Given the description of an element on the screen output the (x, y) to click on. 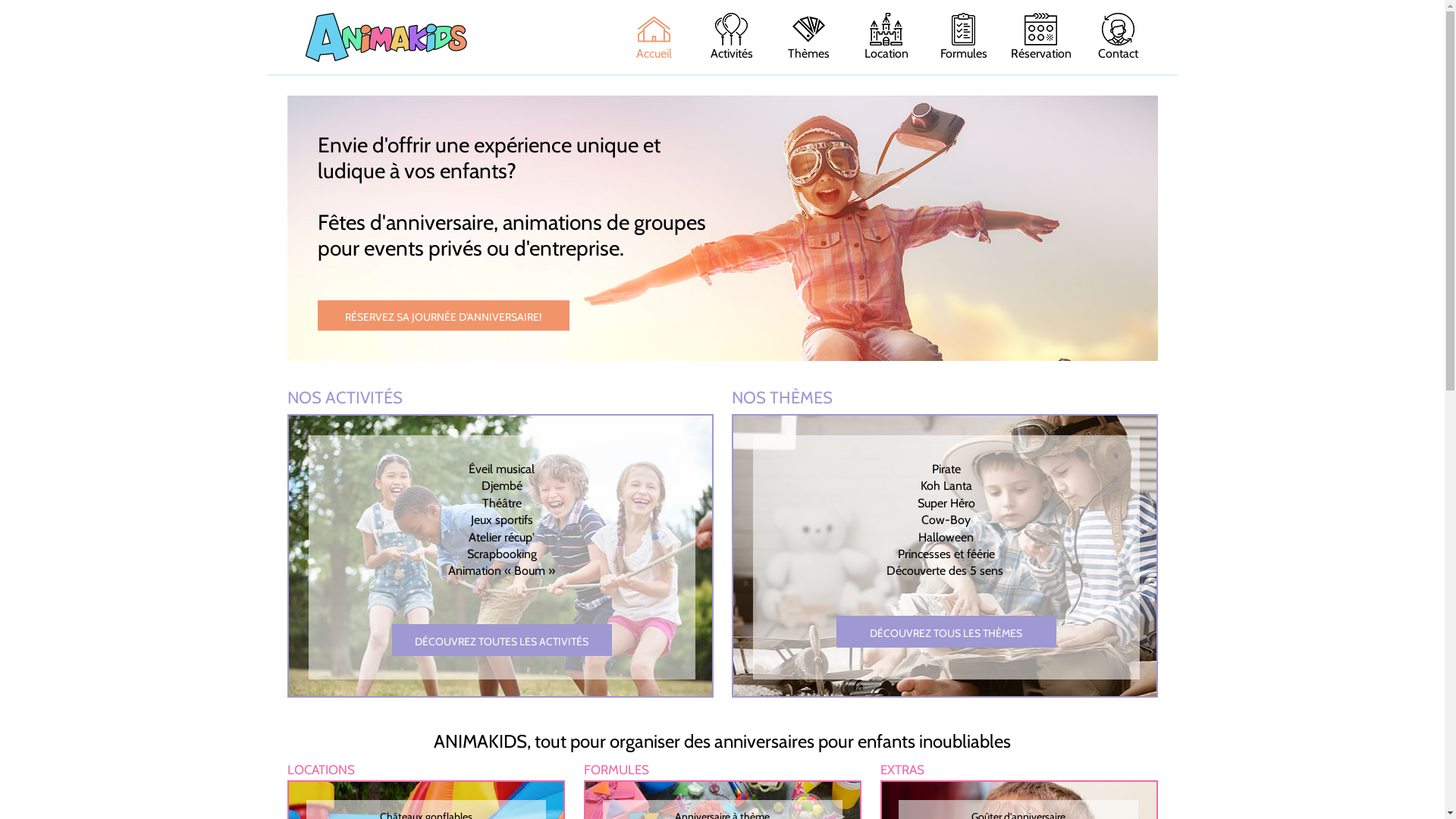
Accueil Element type: text (653, 36)
Location Element type: text (885, 36)
Formules Element type: text (962, 36)
Contact Element type: text (1117, 36)
